Given the description of an element on the screen output the (x, y) to click on. 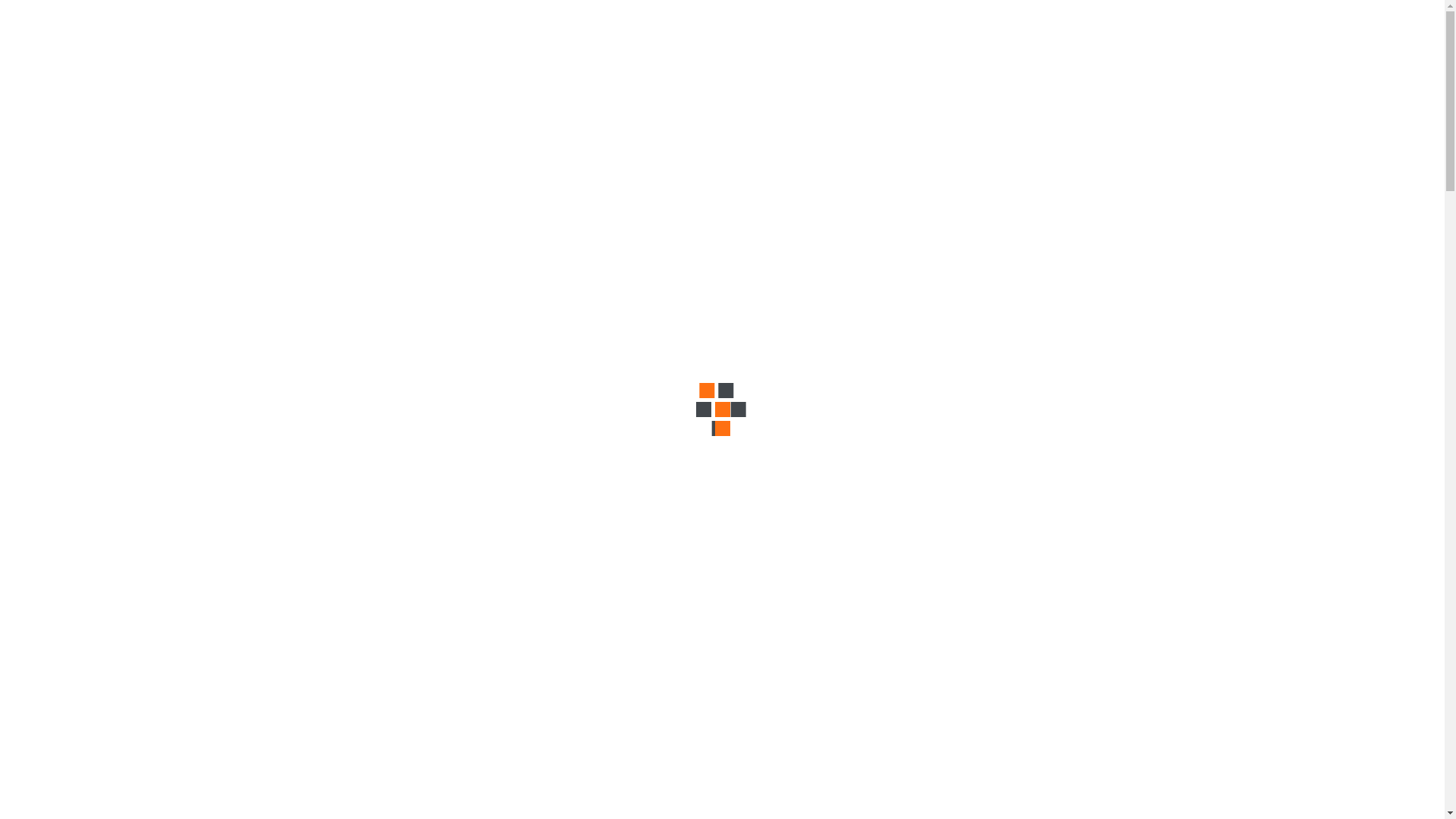
HOME Element type: text (314, 81)
INFORMATION Element type: text (511, 81)
SERVICES Element type: text (430, 81)
ABOUT Element type: text (368, 81)
0408 779 447 Element type: text (710, 37)
CONTACT Element type: text (592, 81)
REQUEST A QUOTE Element type: text (1089, 31)
